Given the description of an element on the screen output the (x, y) to click on. 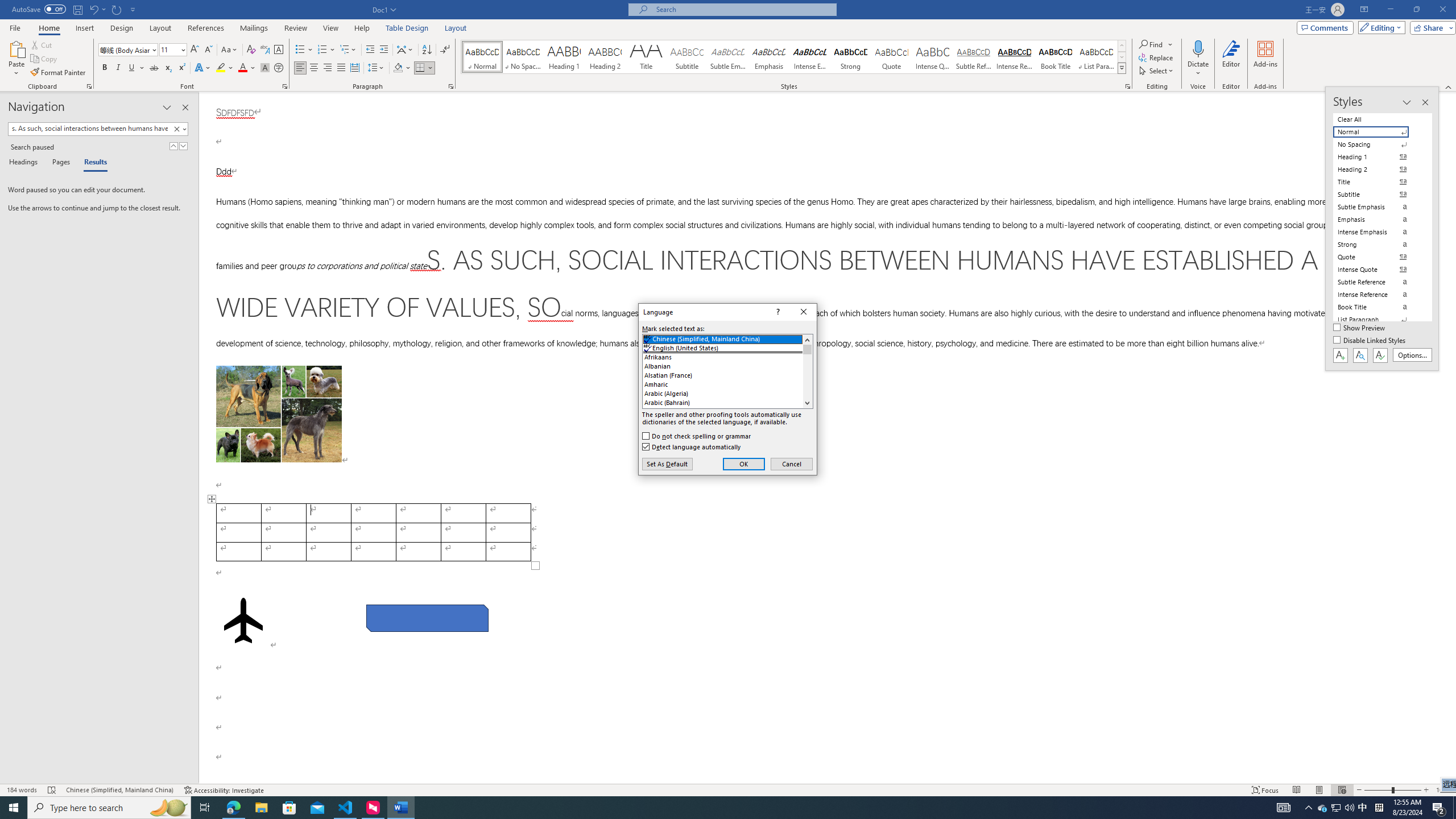
Detect language automatically (692, 446)
